Given the description of an element on the screen output the (x, y) to click on. 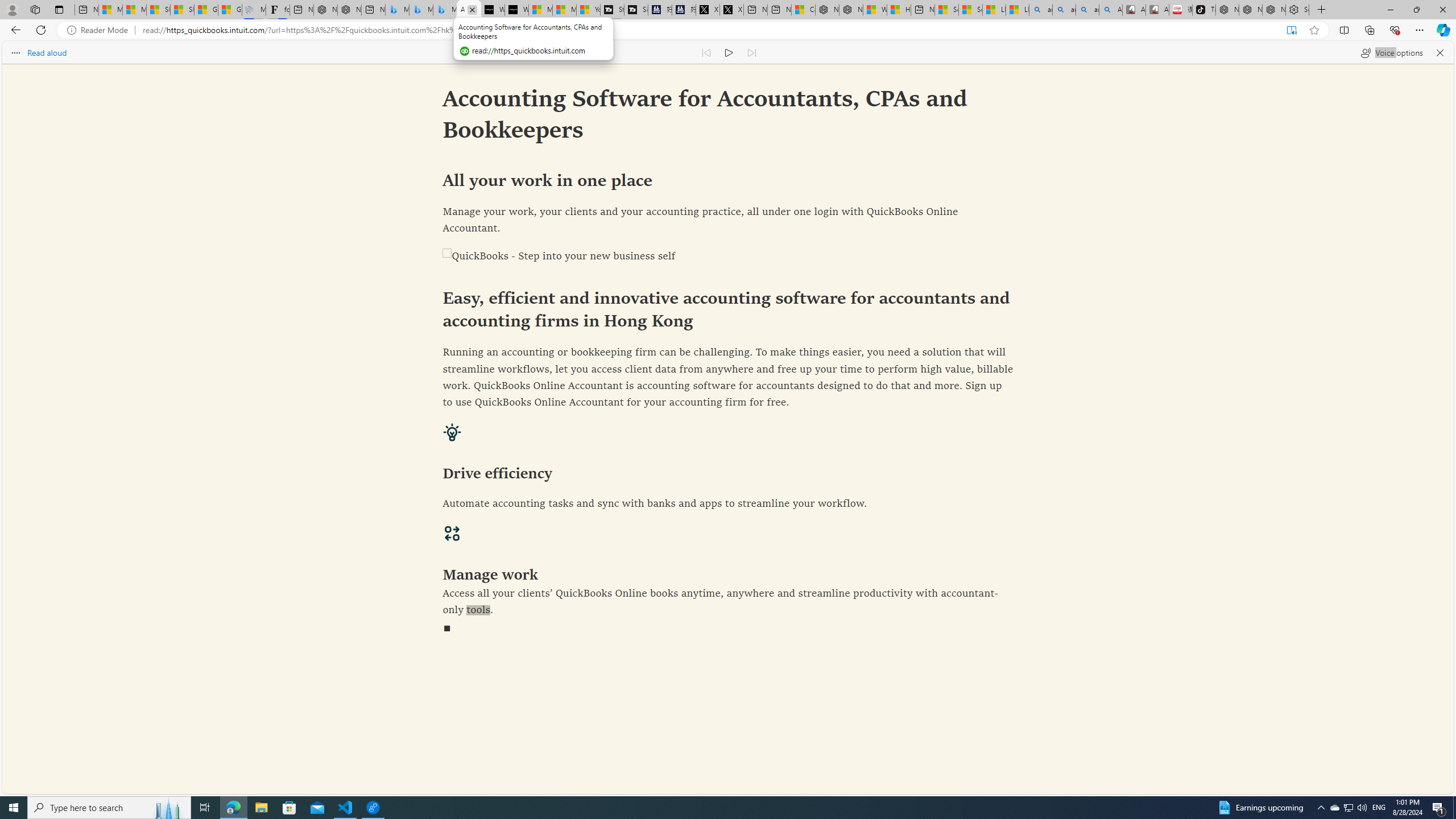
Close read aloud (1439, 52)
amazon - Search Images (1087, 9)
Amazon Echo Robot - Search Images (1110, 9)
Voice options (1391, 52)
